Given the description of an element on the screen output the (x, y) to click on. 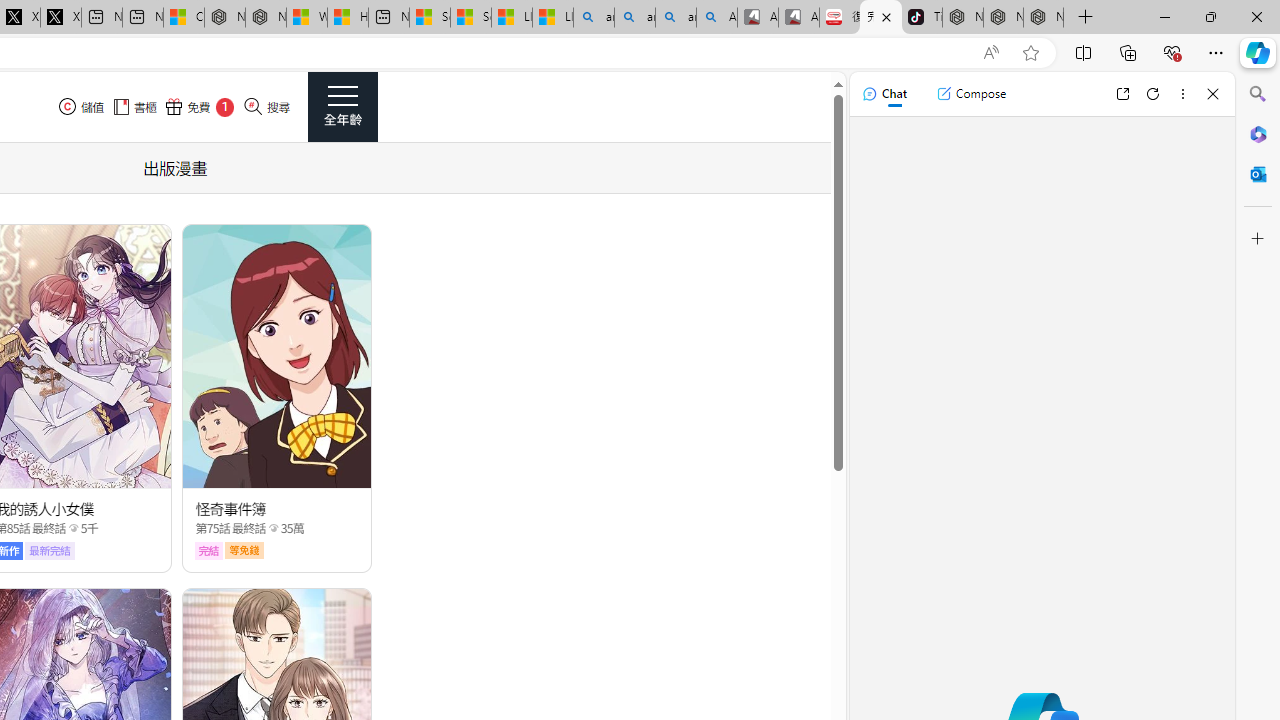
Compose (971, 93)
TikTok (922, 17)
Open link in new tab (1122, 93)
Nordace Siena Pro 15 Backpack (1003, 17)
All Cubot phones (799, 17)
Wildlife - MSN (306, 17)
Nordace - Best Sellers (963, 17)
